Given the description of an element on the screen output the (x, y) to click on. 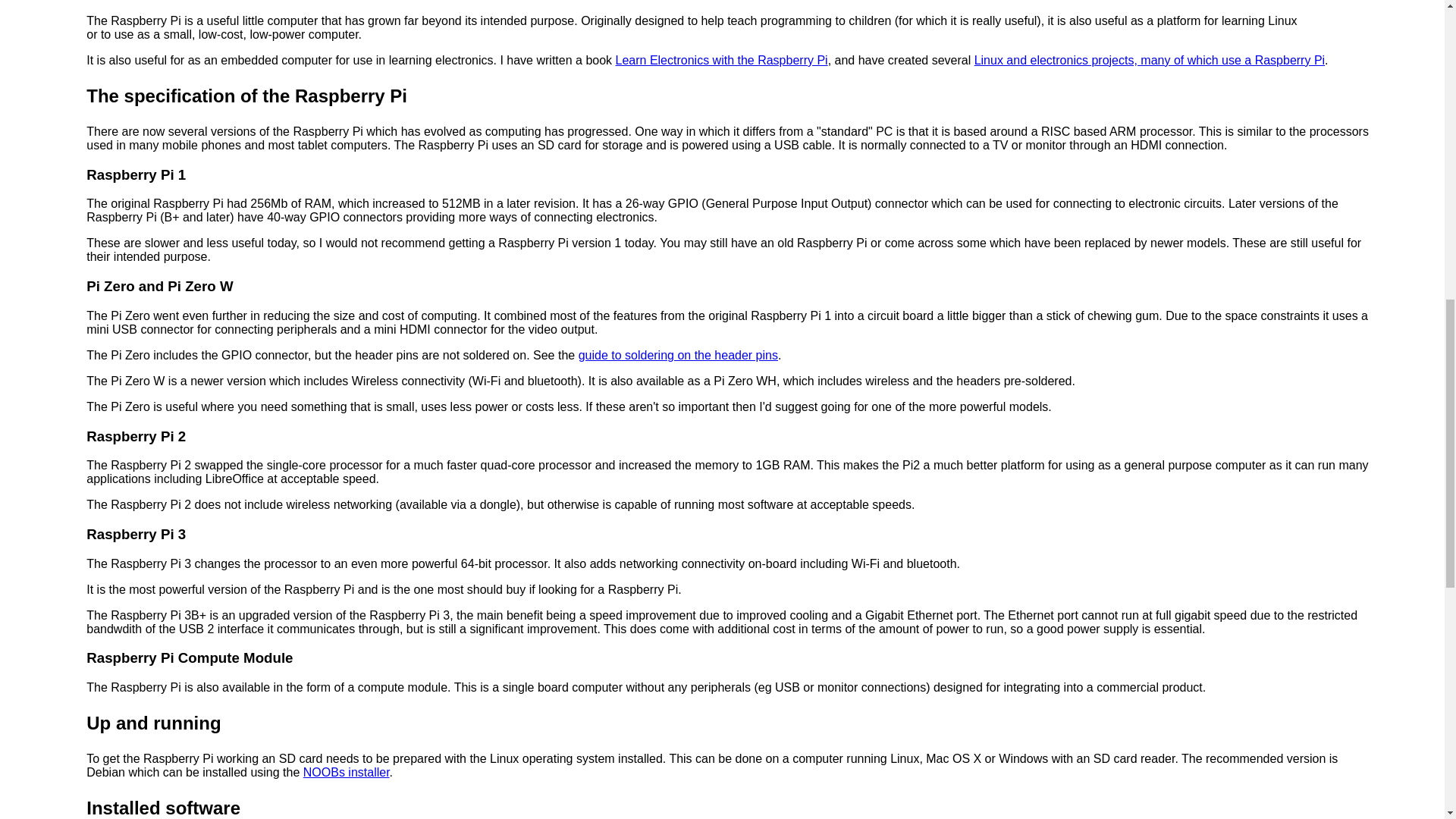
guide to soldering on the header pins (677, 354)
Learn Electronics with the Raspberry Pi (721, 60)
NOOBs installer (346, 771)
